Given the description of an element on the screen output the (x, y) to click on. 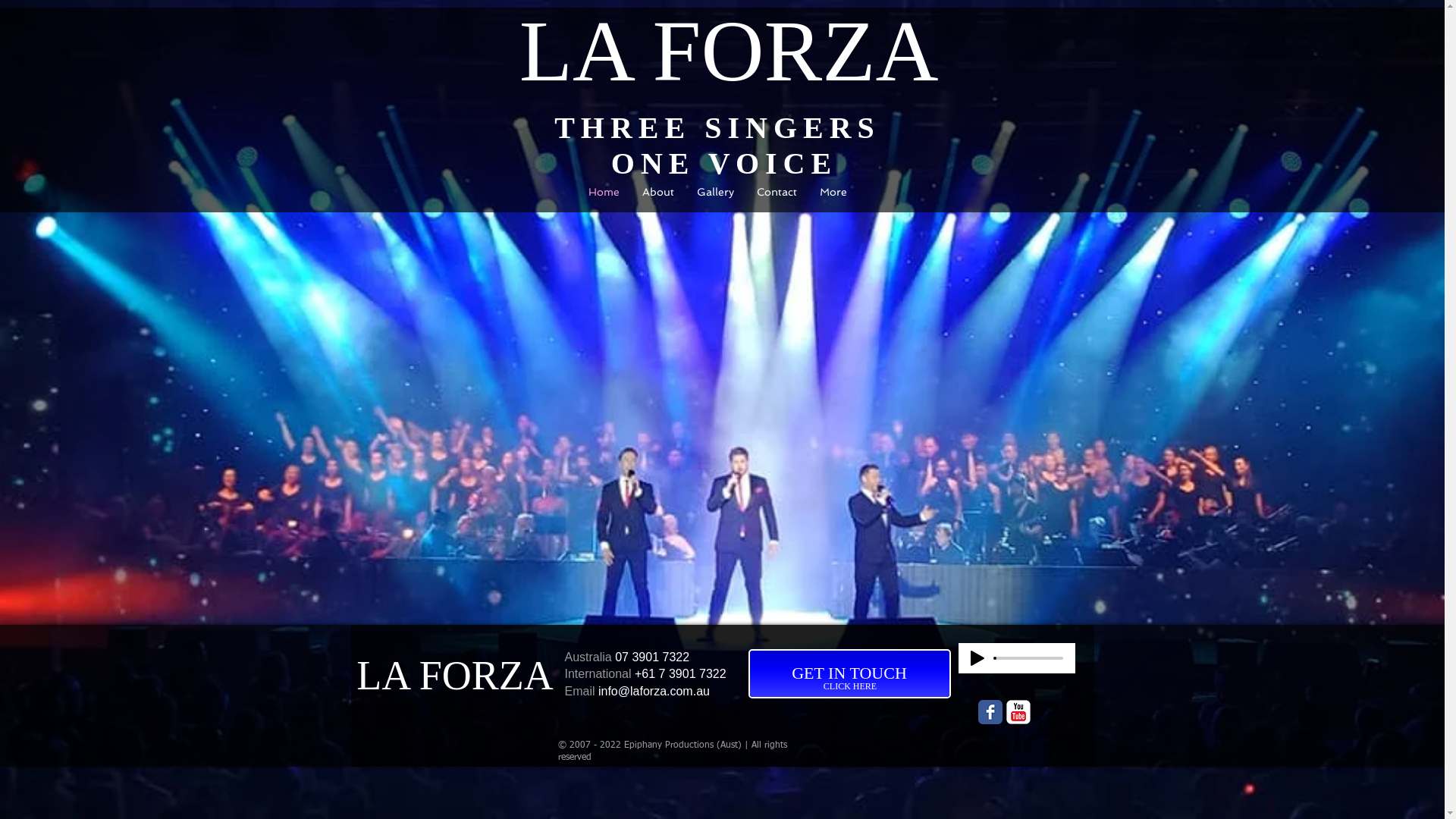
GET IN TOUCH Element type: text (848, 673)
Contact Element type: text (775, 196)
Gallery Element type: text (715, 196)
About Element type: text (657, 196)
Home Element type: text (603, 196)
Email info@laforza.com.au Element type: text (636, 690)
